Given the description of an element on the screen output the (x, y) to click on. 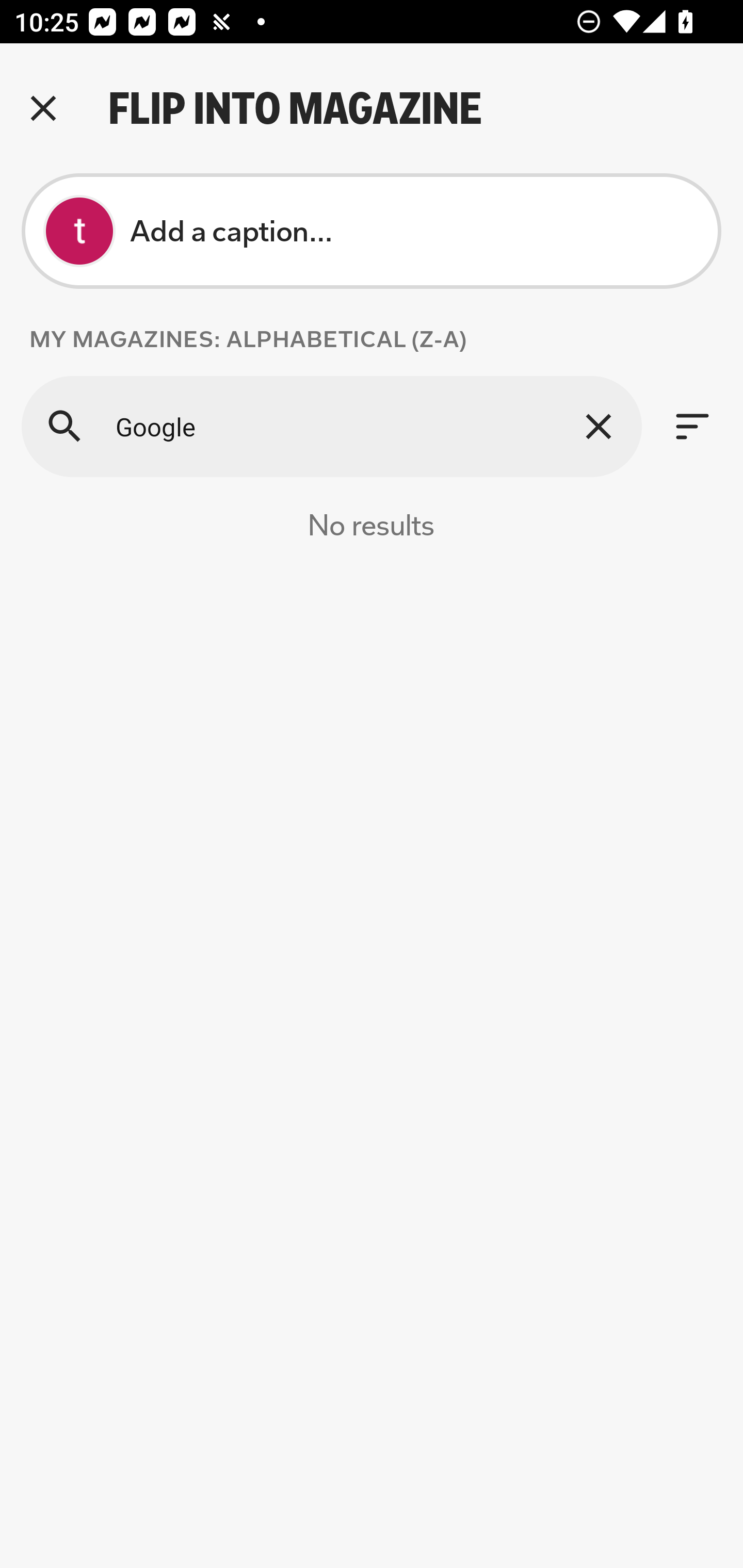
test appium Add a caption… (371, 231)
Google Search (331, 426)
